Given the description of an element on the screen output the (x, y) to click on. 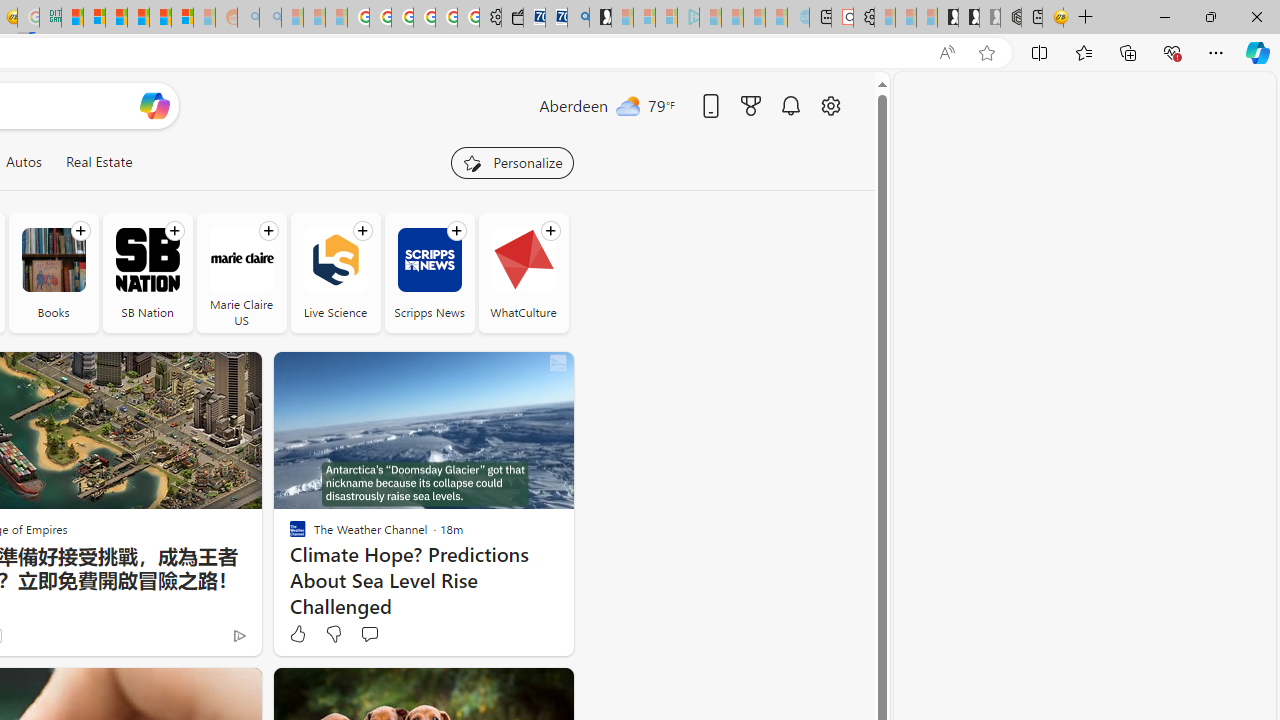
WhatCulture (523, 260)
